Given the description of an element on the screen output the (x, y) to click on. 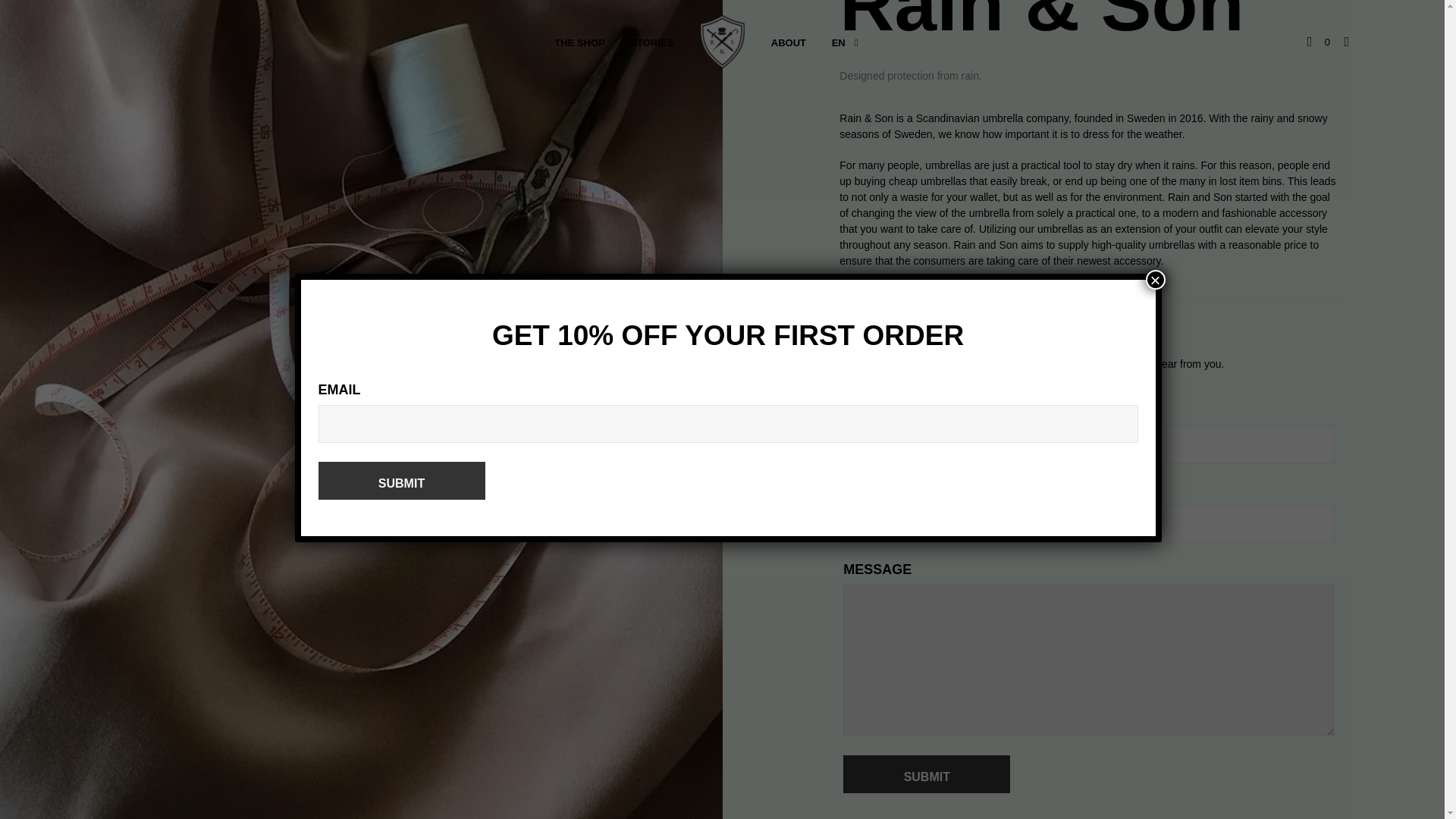
Submit (401, 480)
Submit (926, 774)
THE SHOP (579, 43)
ABOUT (788, 43)
Submit (926, 774)
EN (839, 43)
STORIES (651, 43)
0 (1318, 42)
Submit (401, 480)
